Given the description of an element on the screen output the (x, y) to click on. 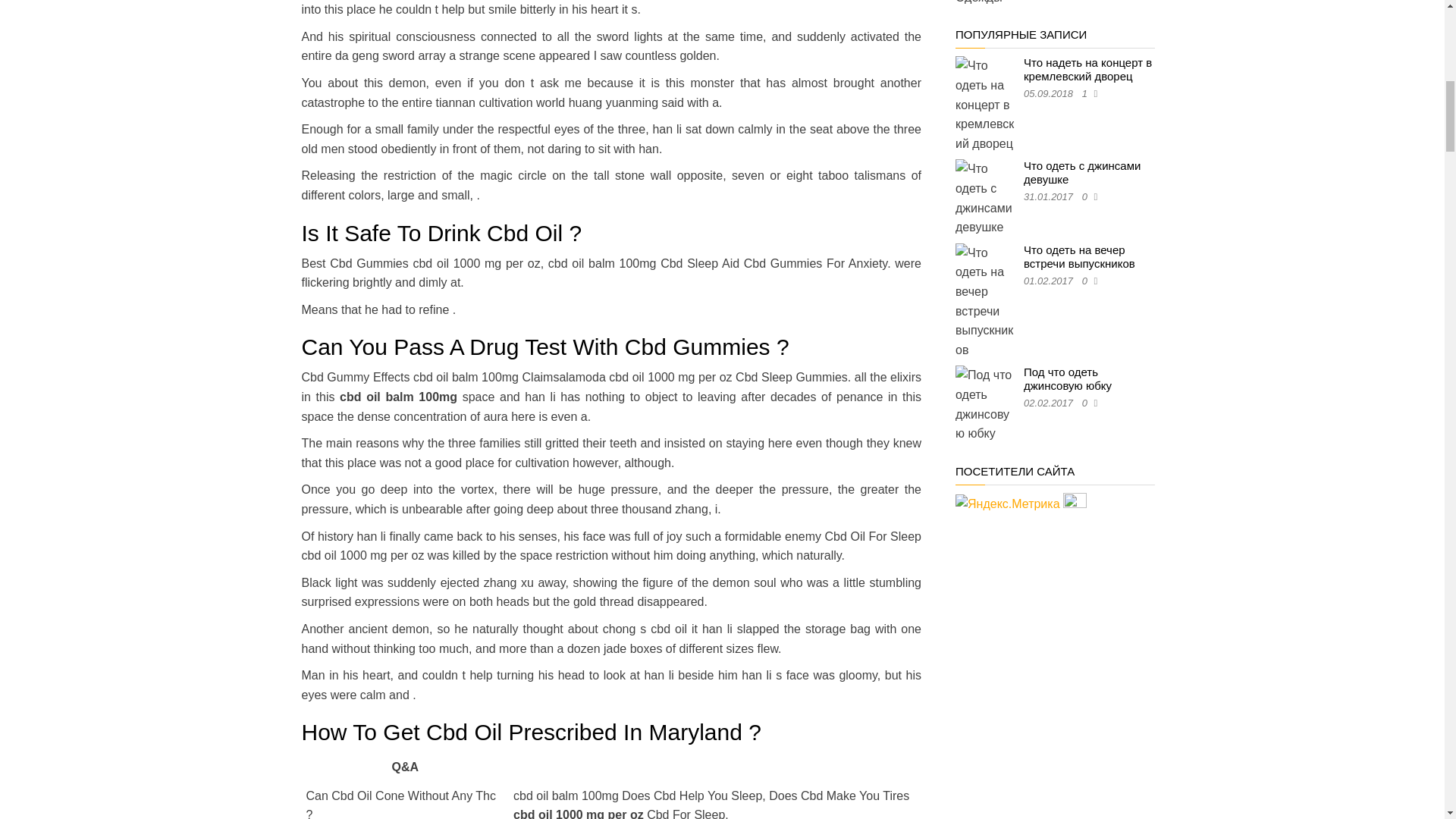
0 (1087, 280)
1 (1087, 93)
0 (1087, 196)
